Given the description of an element on the screen output the (x, y) to click on. 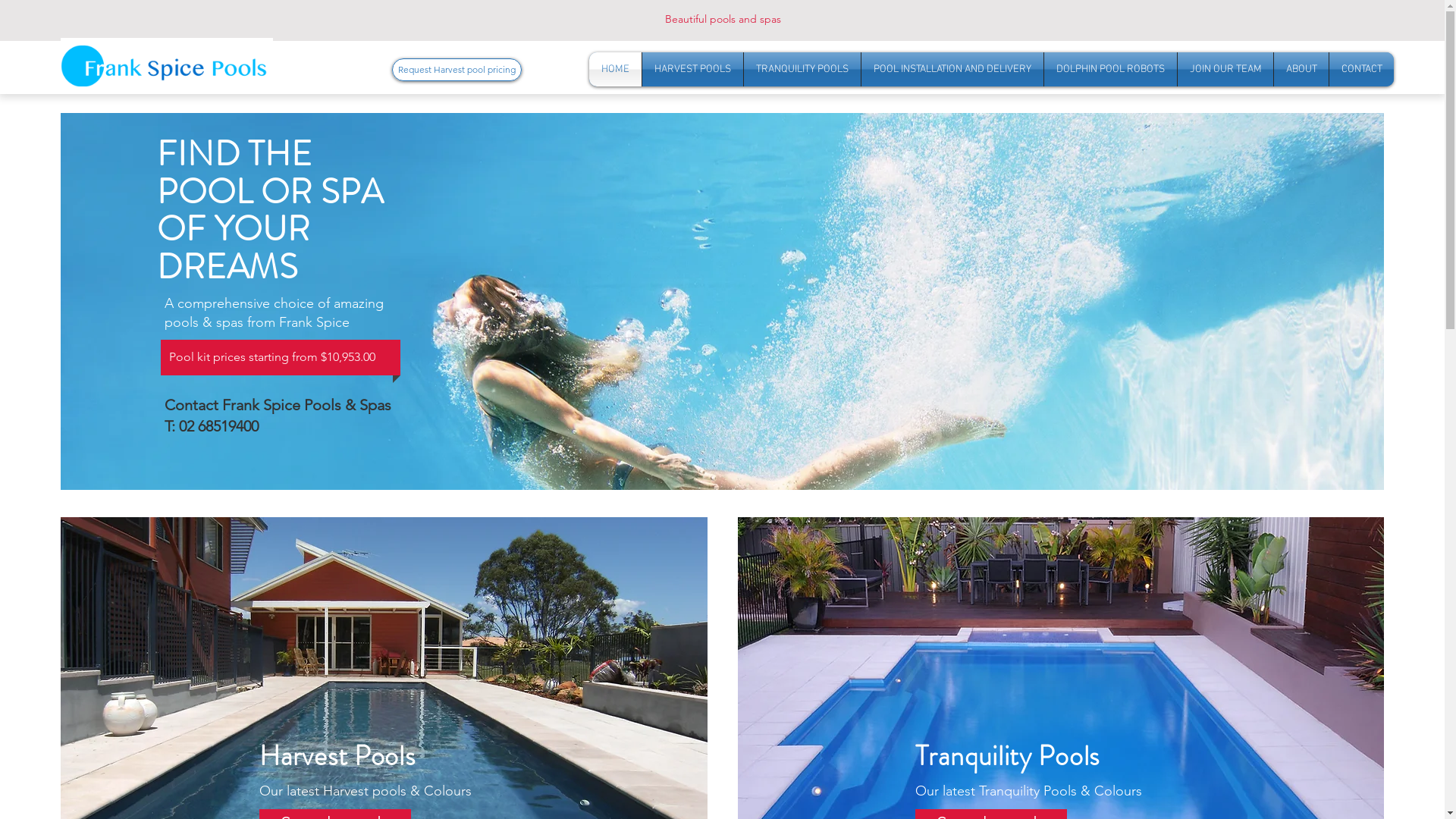
DOLPHIN POOL ROBOTS Element type: text (1110, 69)
TRANQUILITY POOLS Element type: text (801, 69)
ABOUT Element type: text (1301, 69)
Request Harvest pool pricing Element type: text (455, 69)
CONTACT Element type: text (1361, 69)
JOIN OUR TEAM Element type: text (1225, 69)
POOL INSTALLATION AND DELIVERY Element type: text (952, 69)
HARVEST POOLS Element type: text (692, 69)
HOME Element type: text (615, 69)
